Given the description of an element on the screen output the (x, y) to click on. 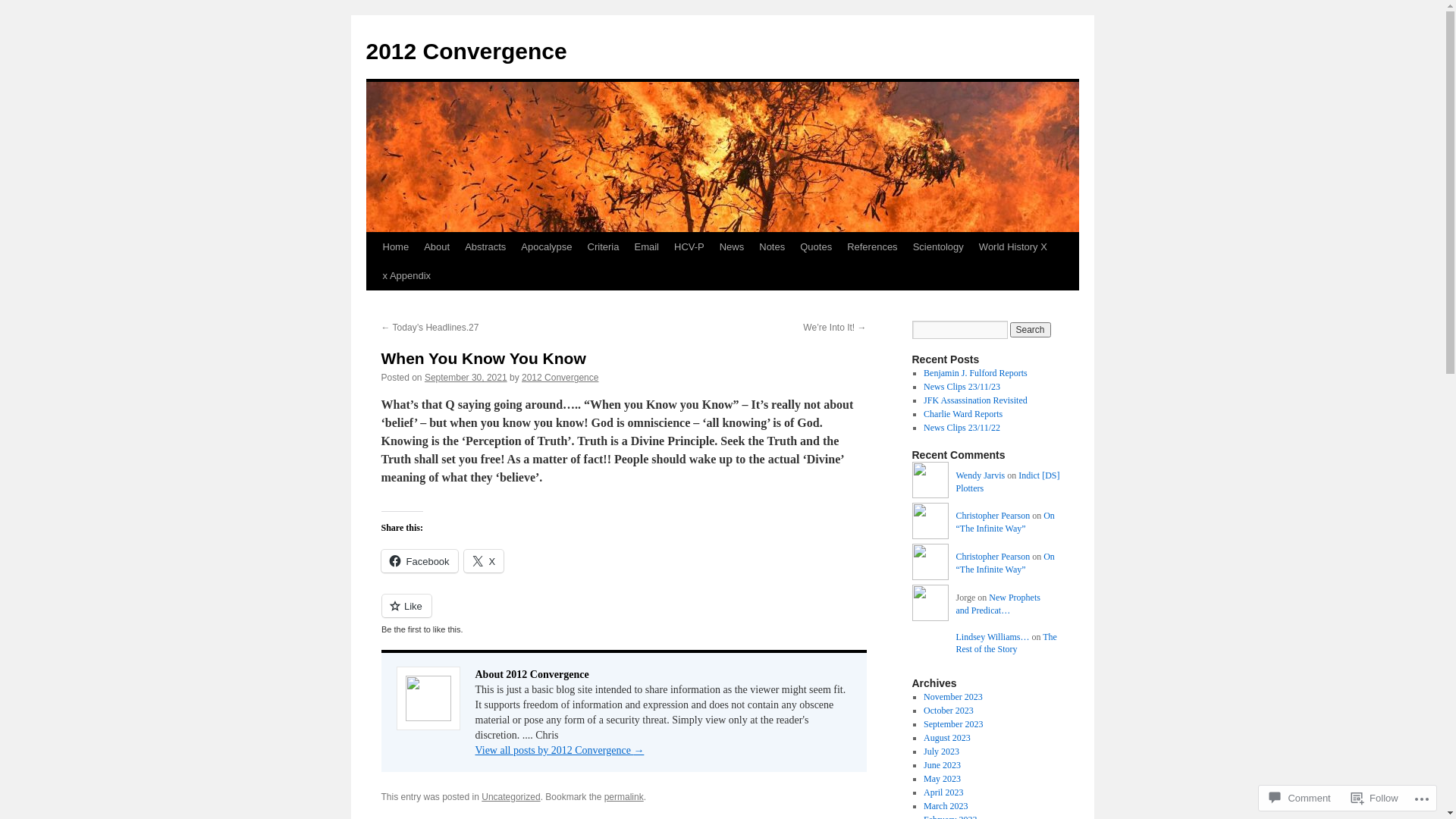
The Rest of the Story Element type: text (1005, 642)
Facebook Element type: text (418, 560)
Email Element type: text (646, 246)
October 2023 Element type: text (948, 710)
Apocalypse Element type: text (546, 246)
Indict [DS] Plotters Element type: text (1007, 481)
About Element type: text (436, 246)
Abstracts Element type: text (485, 246)
Uncategorized Element type: text (510, 796)
Wendy Jarvis Element type: text (979, 475)
May 2023 Element type: text (941, 778)
Christopher Pearson Element type: text (992, 556)
August 2023 Element type: text (946, 737)
September 30, 2021 Element type: text (465, 377)
References Element type: text (871, 246)
Charlie Ward Reports Element type: text (962, 413)
April 2023 Element type: text (943, 792)
Comment Element type: text (1299, 797)
Christopher Pearson Element type: hover (929, 563)
News Element type: text (732, 246)
September 2023 Element type: text (952, 723)
World History X Element type: text (1012, 246)
Home Element type: text (395, 246)
Wendy Jarvis Element type: hover (929, 481)
Follow Element type: text (1374, 797)
2012 Convergence Element type: text (559, 377)
JFK Assassination Revisited Element type: text (975, 400)
Notes Element type: text (771, 246)
Christopher Pearson Element type: text (992, 515)
March 2023 Element type: text (945, 805)
Scientology Element type: text (938, 246)
permalink Element type: text (623, 796)
X Element type: text (484, 560)
HCV-P Element type: text (689, 246)
Quotes Element type: text (815, 246)
Benjamin J. Fulford Reports Element type: text (975, 372)
When You Know You Know Element type: text (482, 358)
2012 Convergence Element type: text (465, 50)
Search Element type: text (1030, 329)
Jorge Element type: hover (929, 604)
News Clips 23/11/22 Element type: text (961, 427)
Criteria Element type: text (603, 246)
x Appendix Element type: text (406, 275)
Christopher Pearson Element type: hover (929, 522)
Like or Reblog Element type: hover (623, 614)
News Clips 23/11/23 Element type: text (961, 386)
November 2023 Element type: text (952, 696)
July 2023 Element type: text (941, 751)
June 2023 Element type: text (941, 764)
